Given the description of an element on the screen output the (x, y) to click on. 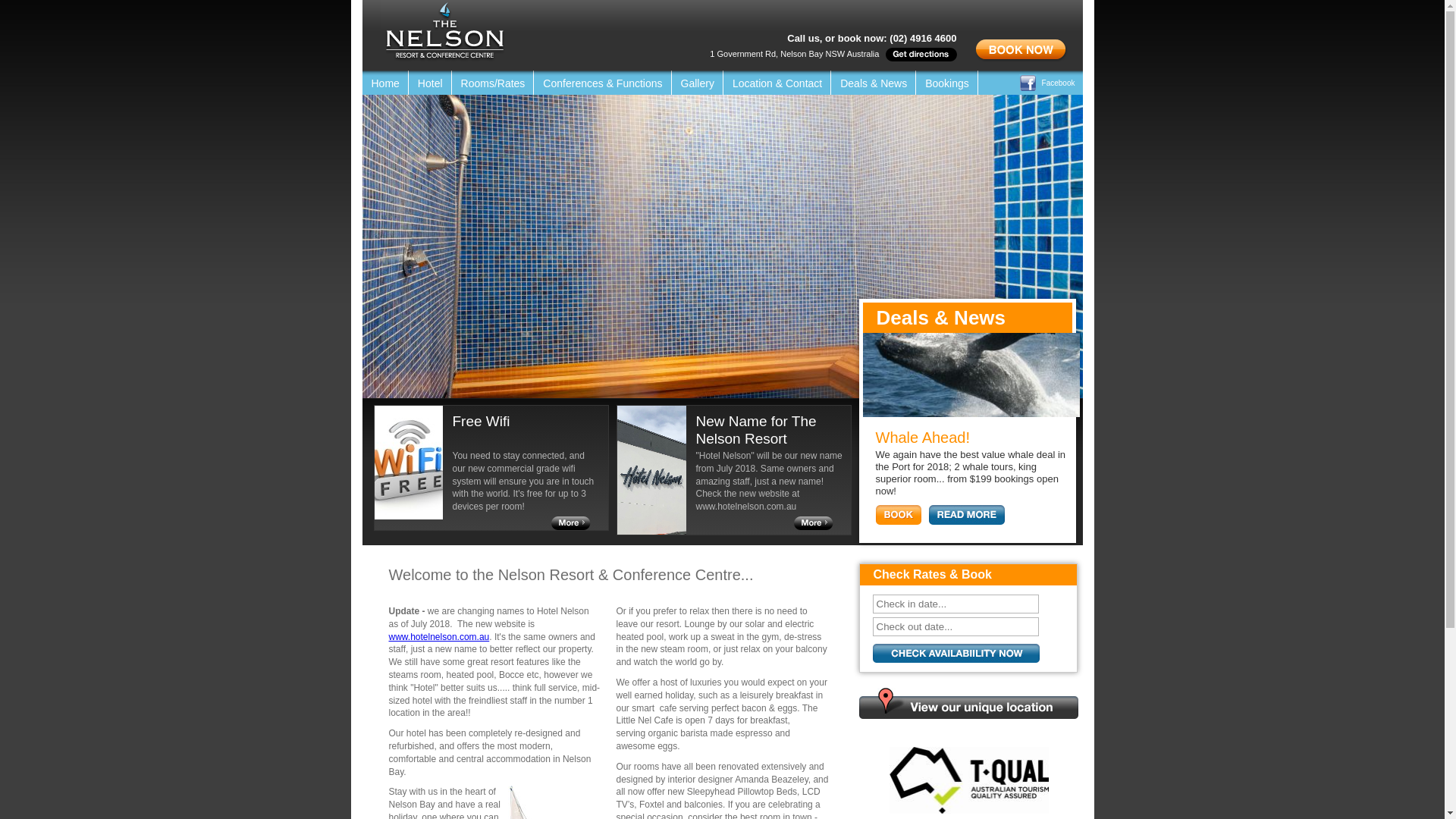
View our unique location Element type: text (967, 702)
Deals & News Element type: text (873, 82)
Home Element type: text (385, 82)
Book Element type: text (897, 514)
Location & Contact Element type: text (777, 82)
More Element type: text (966, 514)
Book now! Element type: text (955, 652)
Gallery Element type: text (697, 82)
Facebook Element type: text (1050, 83)
Bookings Element type: text (947, 82)
www.hotelnelson.com.au Element type: text (438, 636)
Conferences & Functions Element type: text (602, 82)
Rooms/Rates Element type: text (492, 82)
Hotel Element type: text (429, 82)
